Given the description of an element on the screen output the (x, y) to click on. 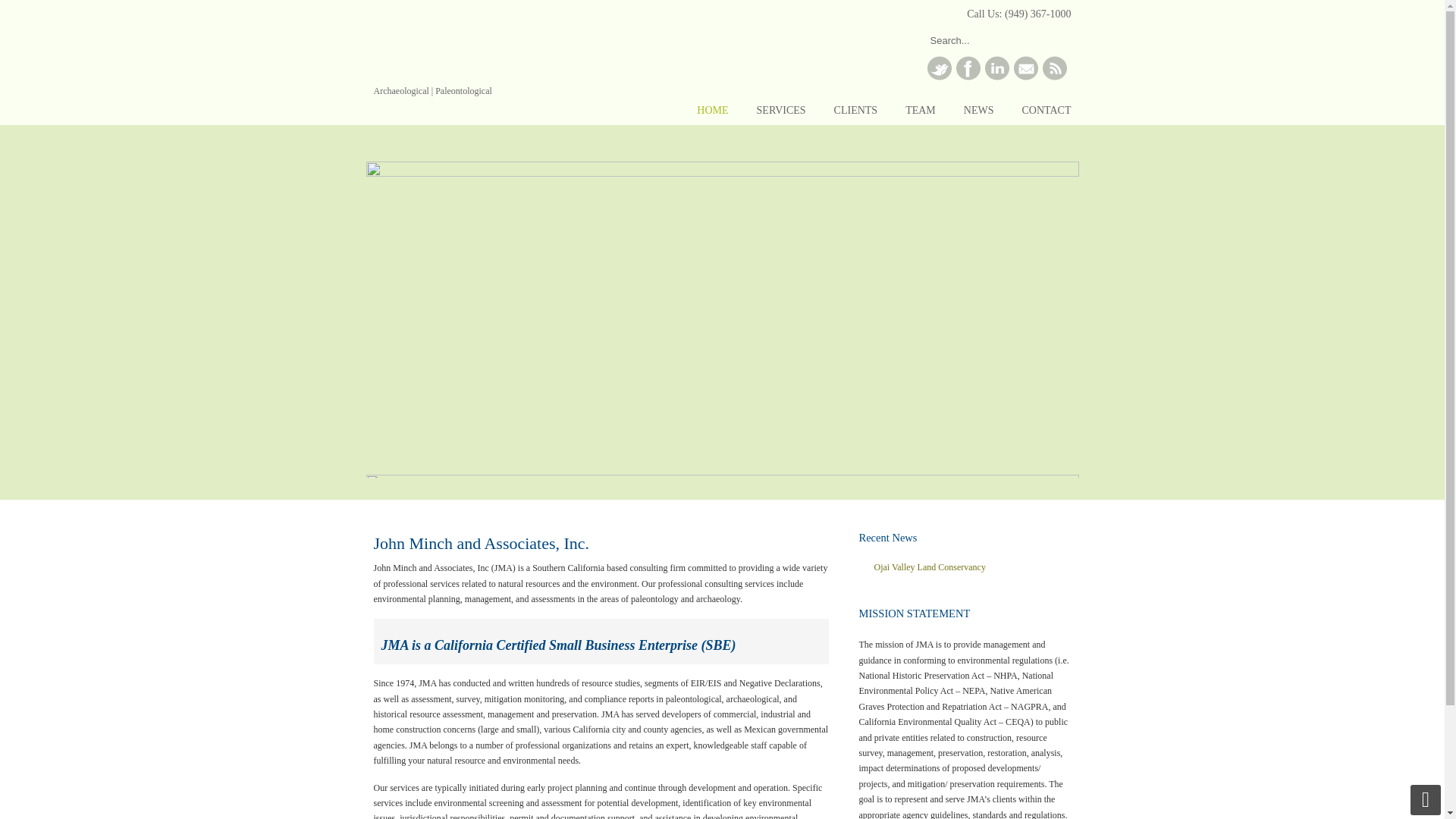
search (1055, 40)
NEWS (979, 110)
E-mail (1024, 77)
Twitter (938, 77)
Pause (1044, 486)
SERVICES (781, 110)
CONTACT (1046, 110)
HOME (711, 110)
Play (1057, 486)
John Minch and Associates, Inc. (505, 60)
